Given the description of an element on the screen output the (x, y) to click on. 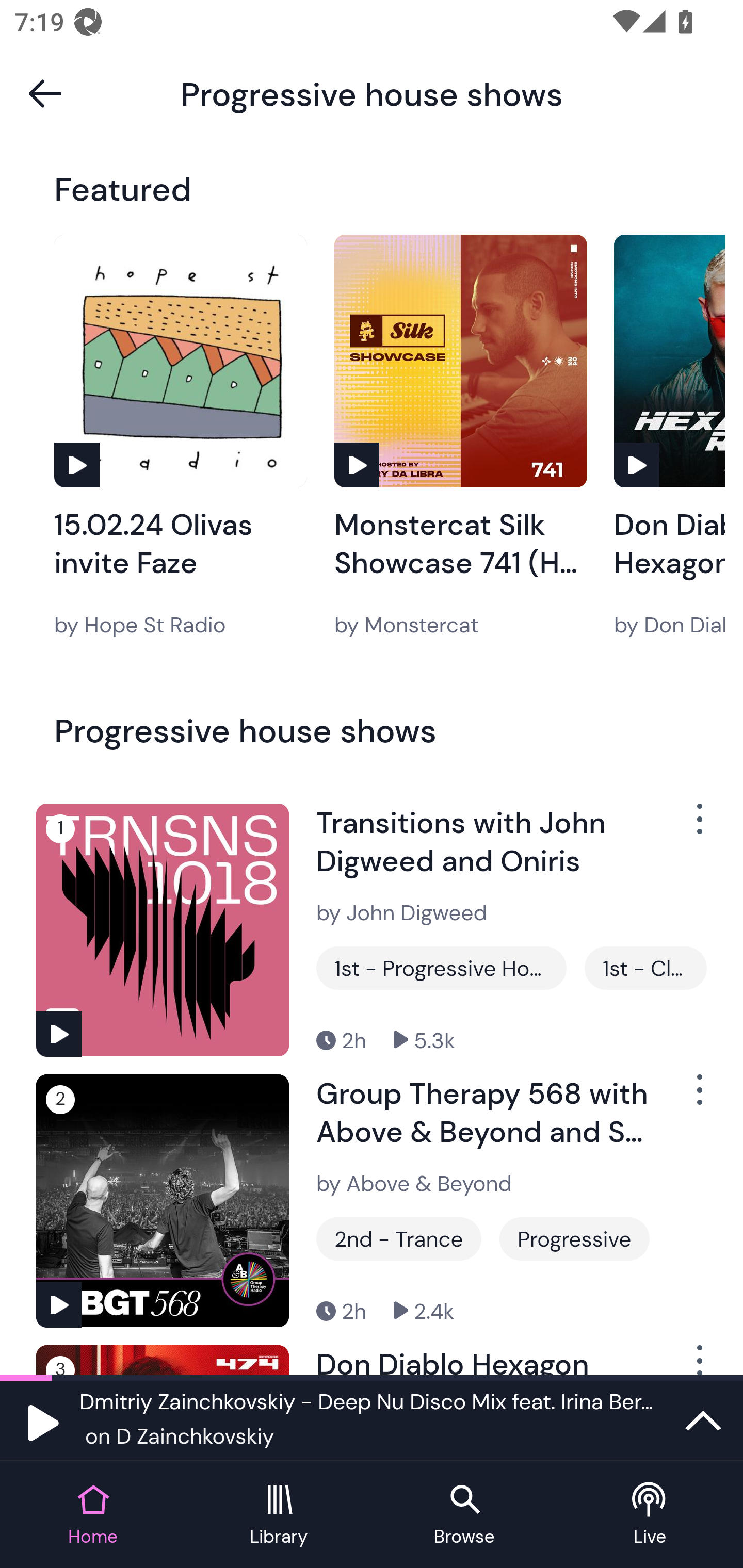
Show Options Menu Button (697, 825)
1st - Progressive House (441, 968)
1st - Club (645, 968)
Show Options Menu Button (697, 1097)
2nd - Trance (398, 1238)
Progressive (574, 1238)
Show Options Menu Button (697, 1360)
Home tab Home (92, 1515)
Library tab Library (278, 1515)
Browse tab Browse (464, 1515)
Live tab Live (650, 1515)
